Given the description of an element on the screen output the (x, y) to click on. 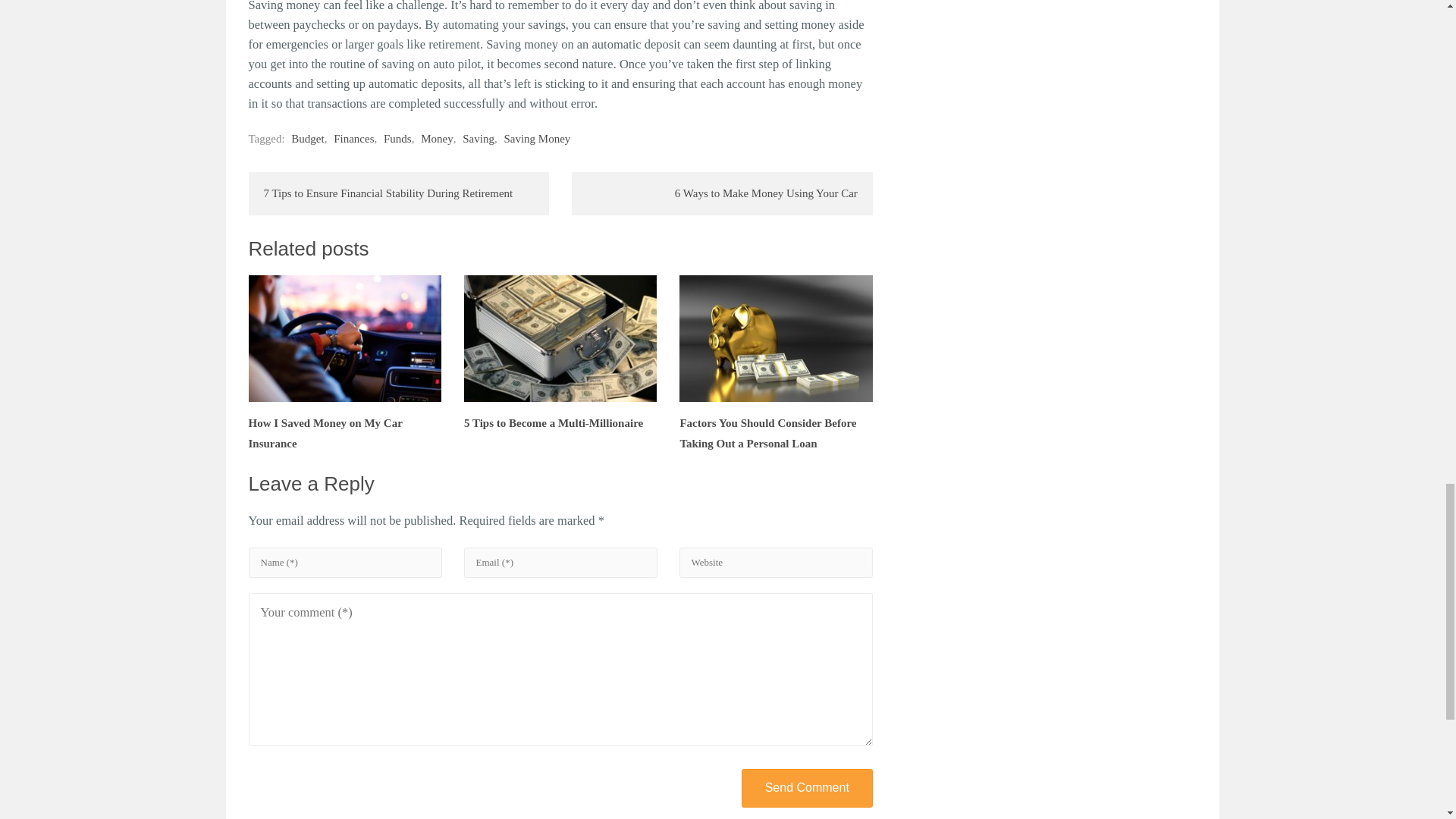
6 Ways to Make Money Using Your Car (722, 193)
How I Saved Money on My Car Insurance (344, 362)
Send Comment (806, 788)
Money (436, 138)
7 Tips to Ensure Financial Stability During Retirement (399, 193)
5 Tips to Become a Multi-Millionaire (560, 352)
Finances (353, 138)
Funds (398, 138)
Budget (307, 138)
Saving Money (536, 138)
Saving (479, 138)
Send Comment (806, 788)
